Given the description of an element on the screen output the (x, y) to click on. 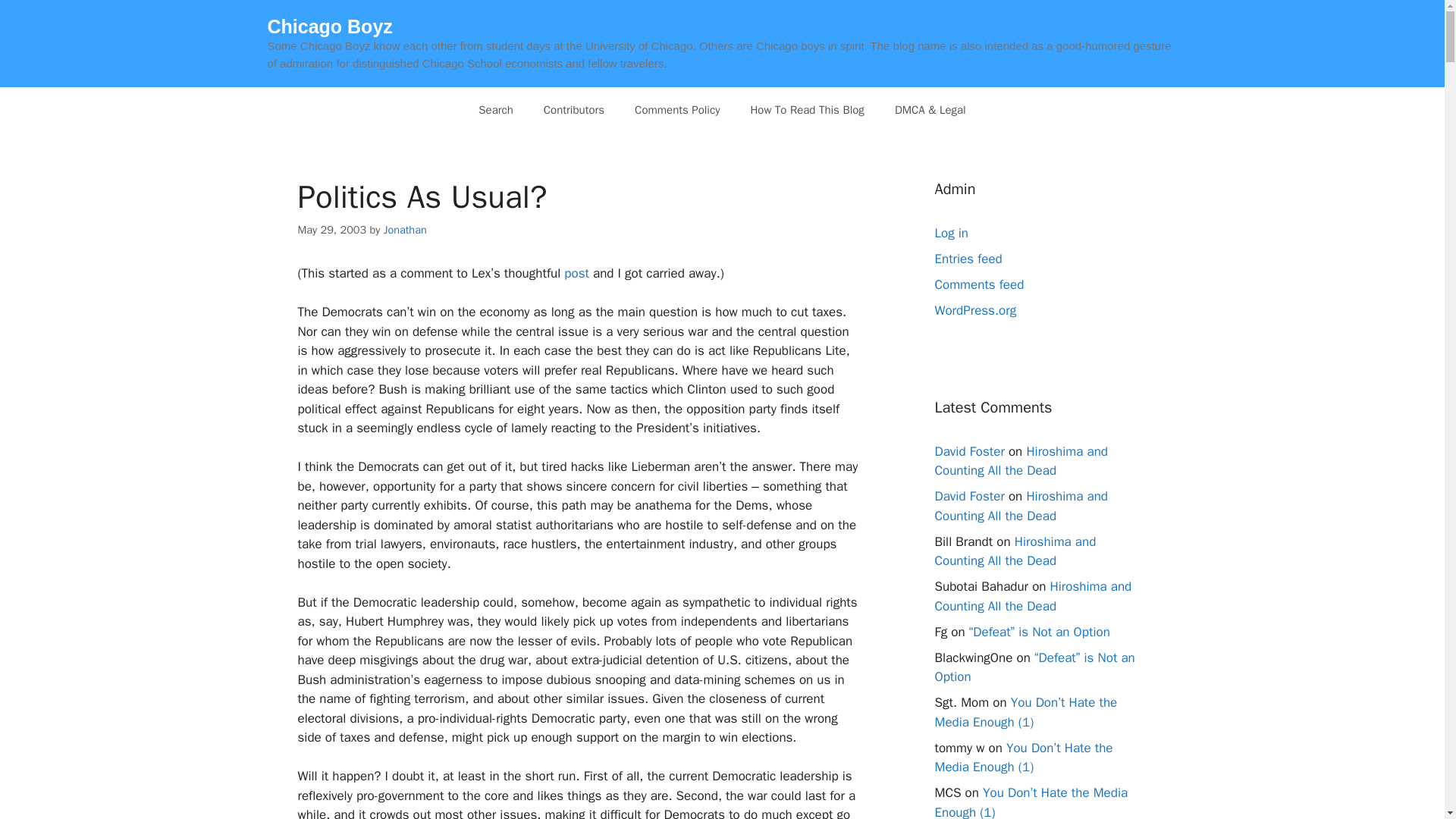
Comments feed (978, 284)
Jonathan (405, 229)
Contributors (574, 109)
Hiroshima and Counting All the Dead (1021, 506)
Entries feed (967, 258)
How To Read This Blog (807, 109)
Comments Policy (677, 109)
David Foster (969, 450)
David Foster (969, 496)
Hiroshima and Counting All the Dead (1021, 460)
